Given the description of an element on the screen output the (x, y) to click on. 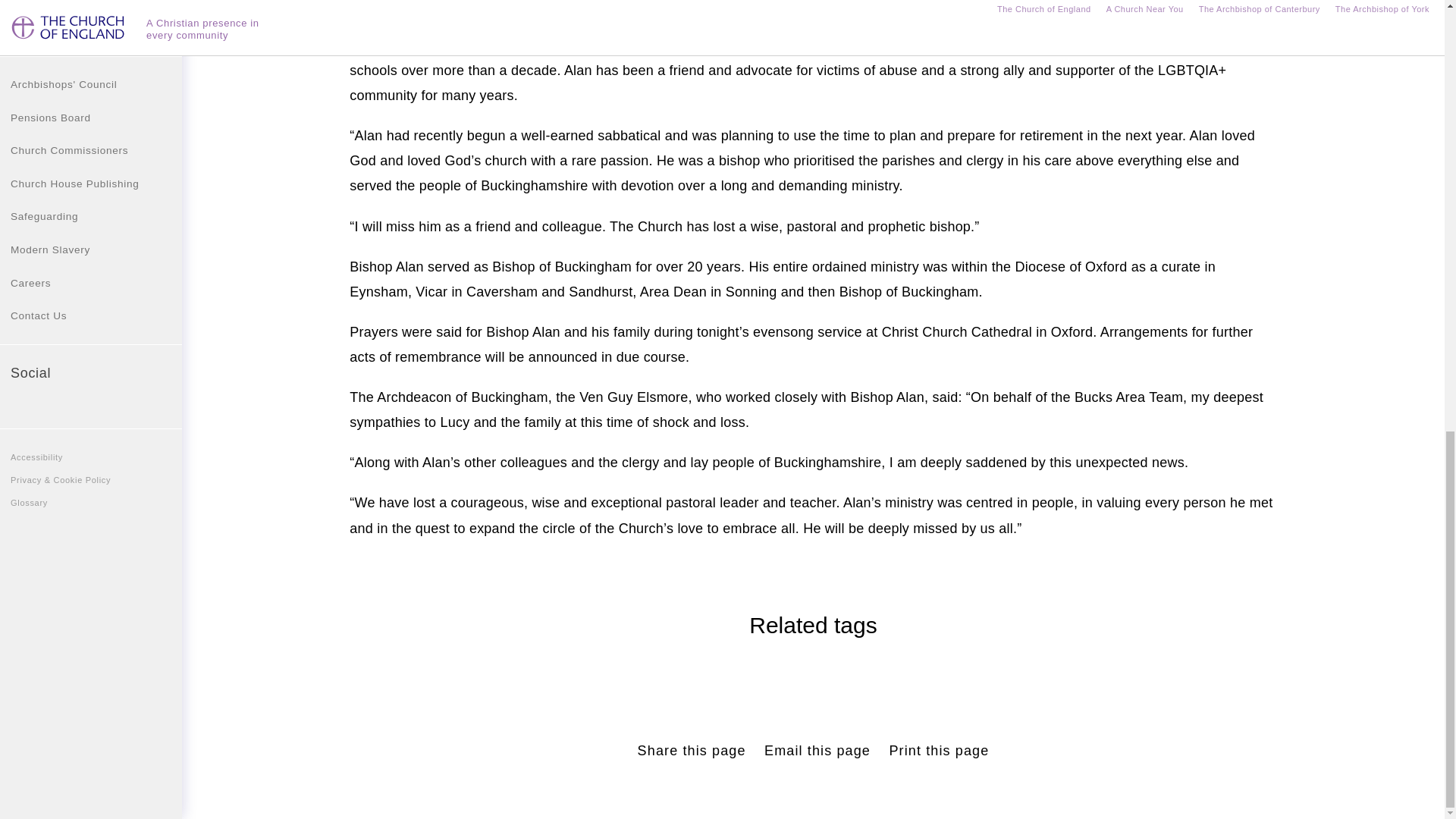
Email this page (817, 750)
Share this page (692, 750)
Print this page (937, 750)
